Given the description of an element on the screen output the (x, y) to click on. 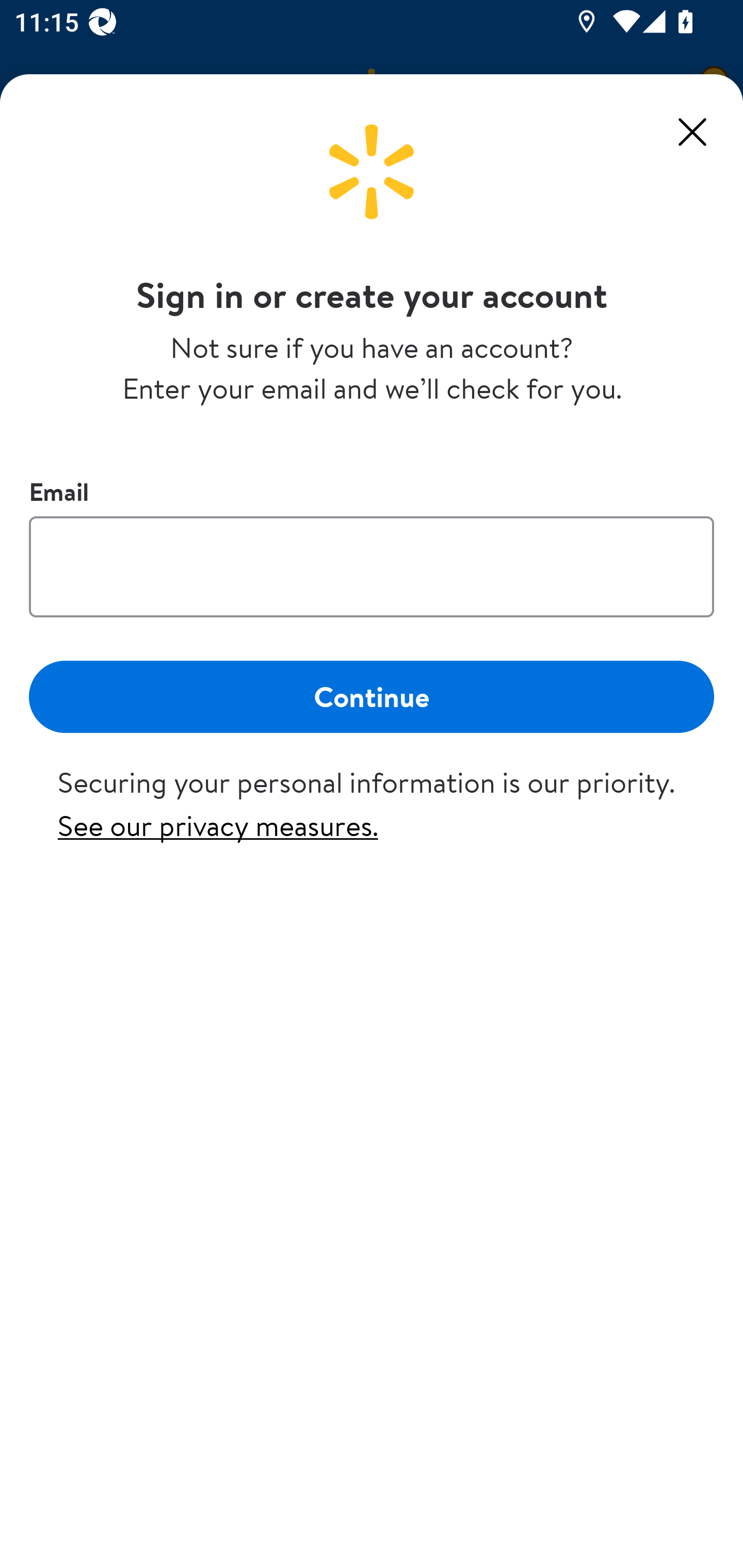
Close (692, 131)
Email (371, 566)
Continue (371, 696)
